Given the description of an element on the screen output the (x, y) to click on. 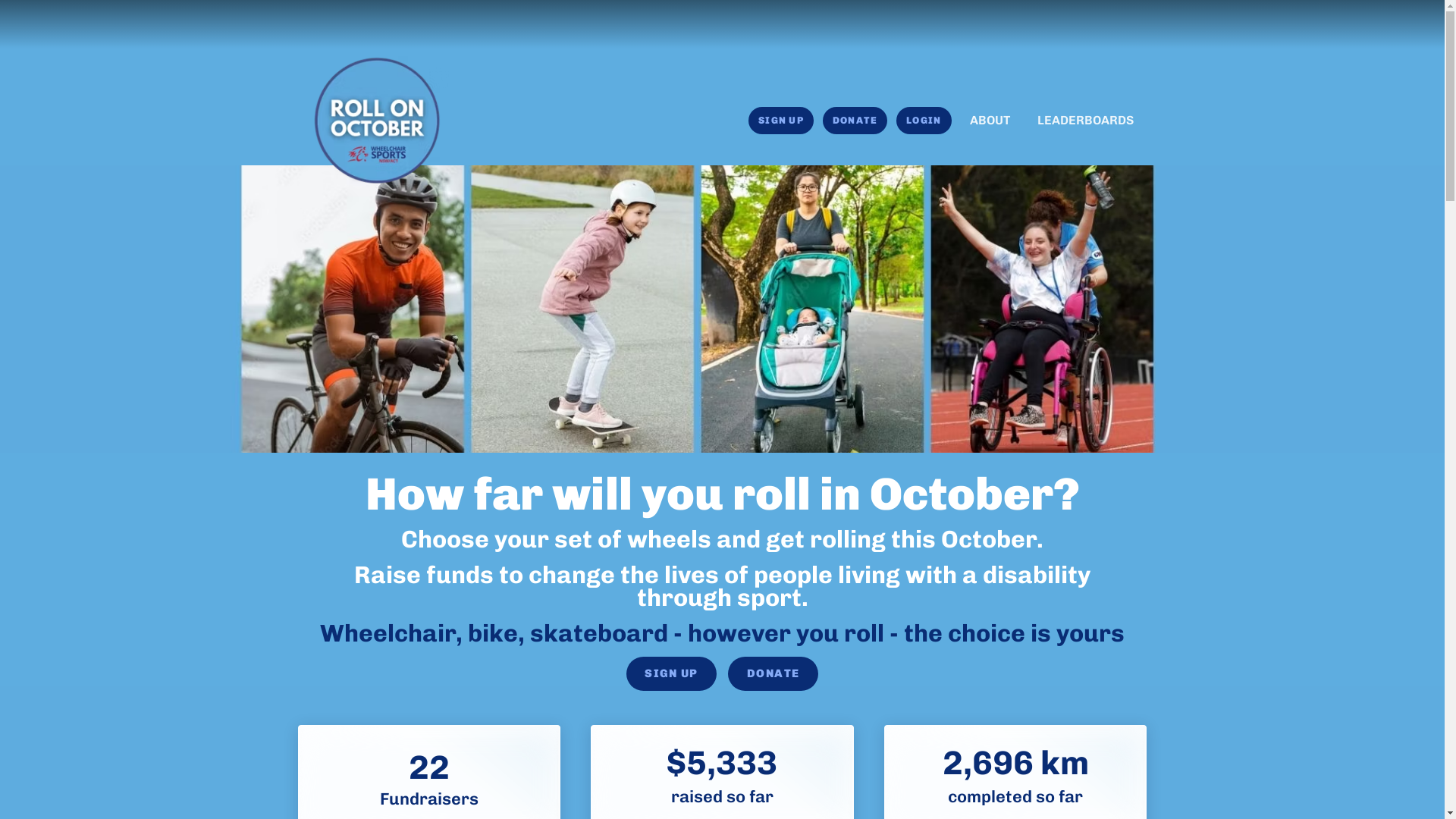
ABOUT Element type: text (989, 120)
LOGIN Element type: text (923, 120)
SIGN UP Element type: text (780, 120)
SIGN UP Element type: text (671, 673)
DONATE Element type: text (773, 673)
LEADERBOARDS Element type: text (1085, 120)
DONATE Element type: text (854, 120)
